Given the description of an element on the screen output the (x, y) to click on. 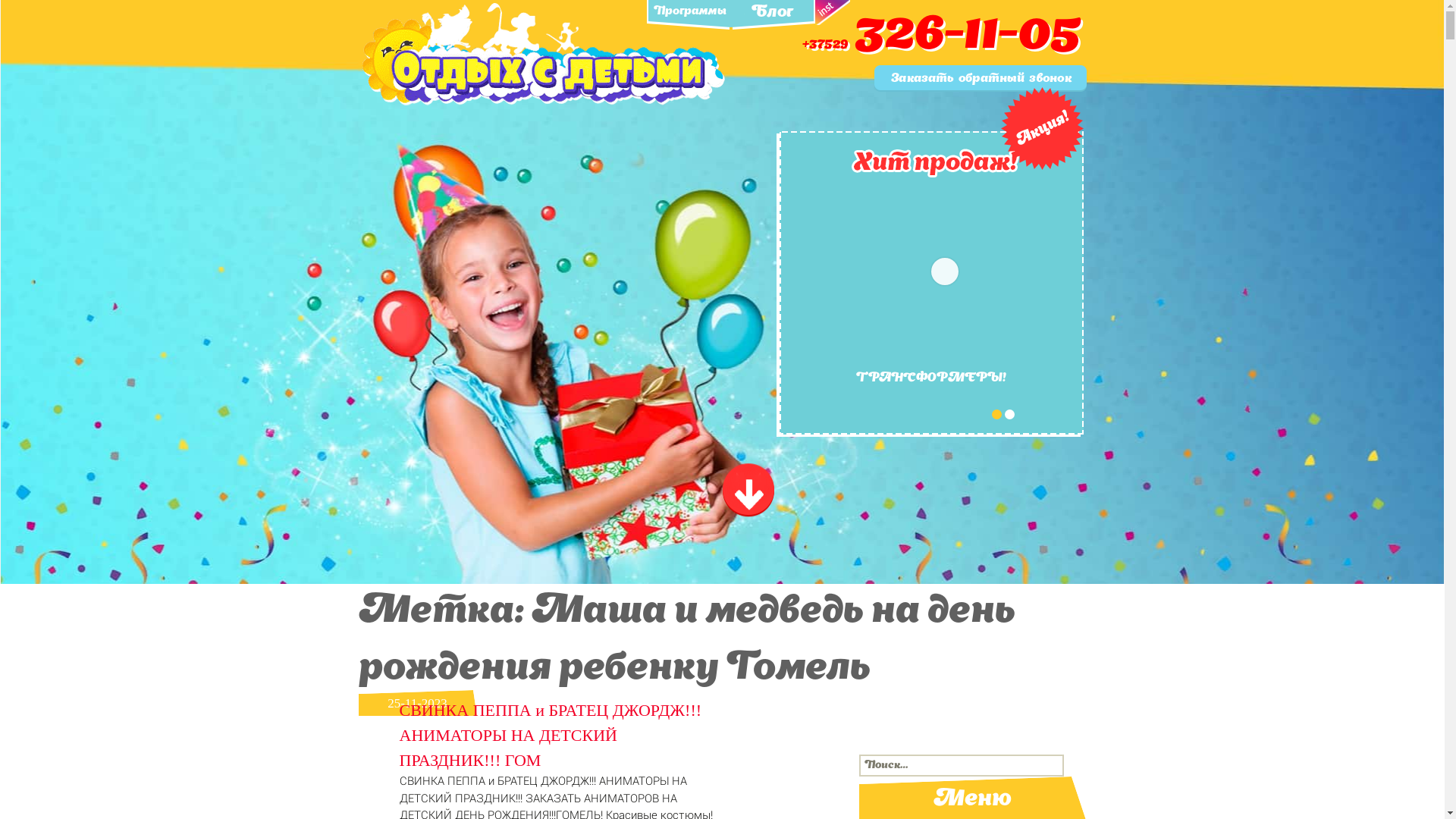
+37529   326-11-05 Element type: text (941, 44)
25-11-2023 Element type: text (377, 706)
